Given the description of an element on the screen output the (x, y) to click on. 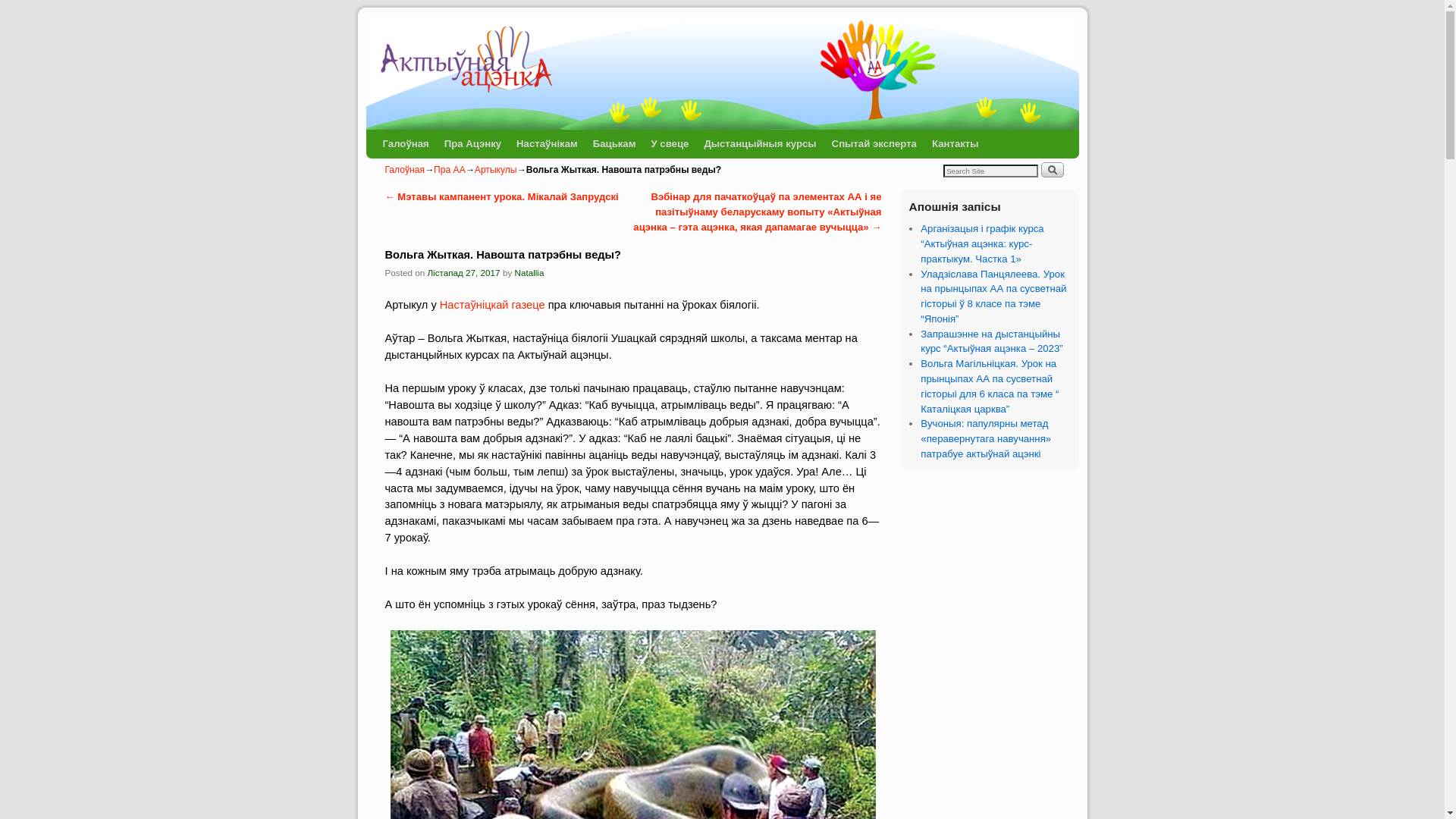
Natallia Element type: text (528, 272)
Skip to secondary content Element type: text (413, 135)
Skip to primary content Element type: text (408, 135)
